Given the description of an element on the screen output the (x, y) to click on. 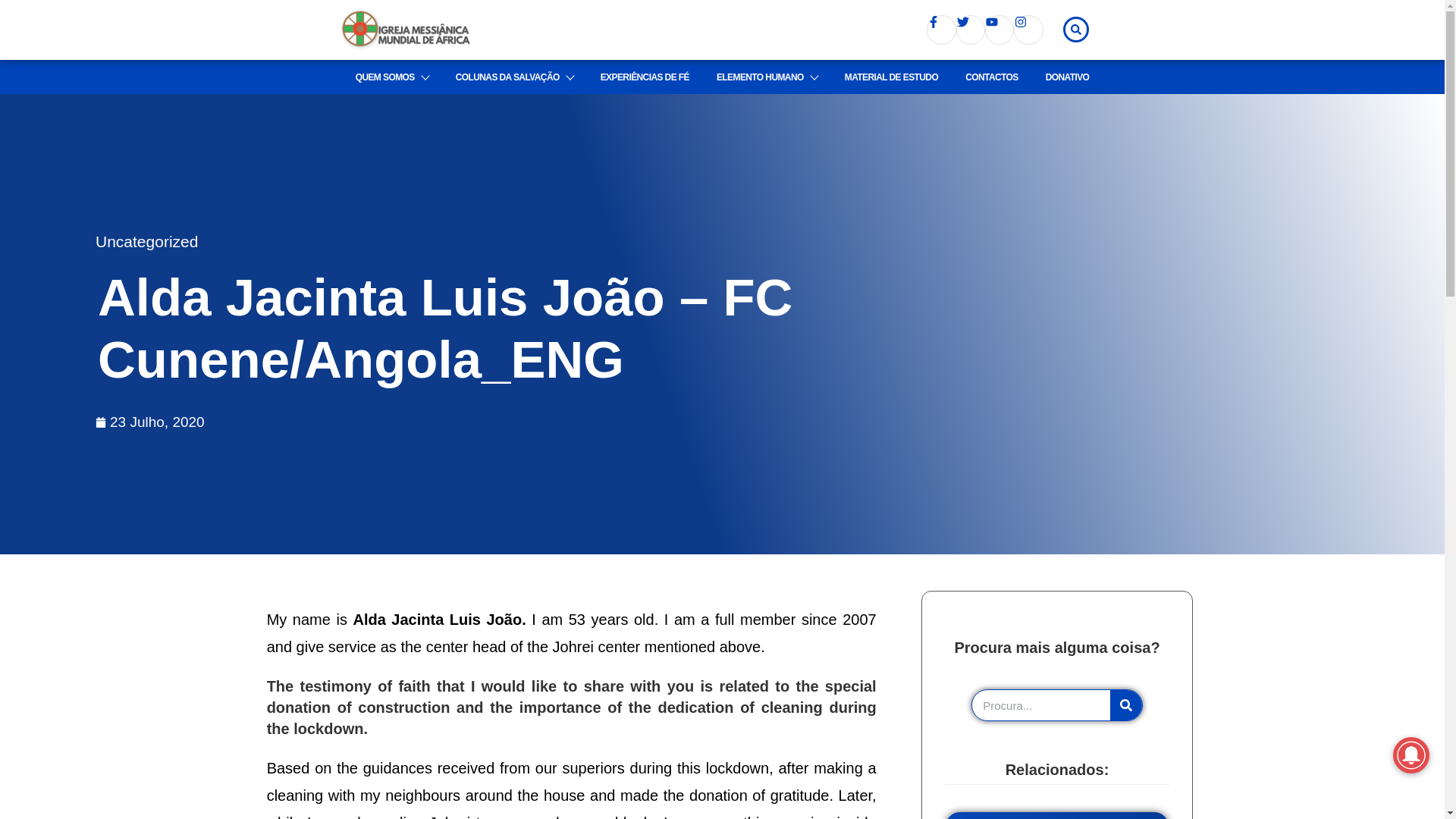
23 Julho, 2020 (150, 421)
ELEMENTO HUMANO (767, 77)
DONATIVO (1067, 76)
MATERIAL DE ESTUDO (890, 76)
QUEM SOMOS (391, 77)
Uncategorized (147, 241)
CONTACTOS (992, 76)
